Given the description of an element on the screen output the (x, y) to click on. 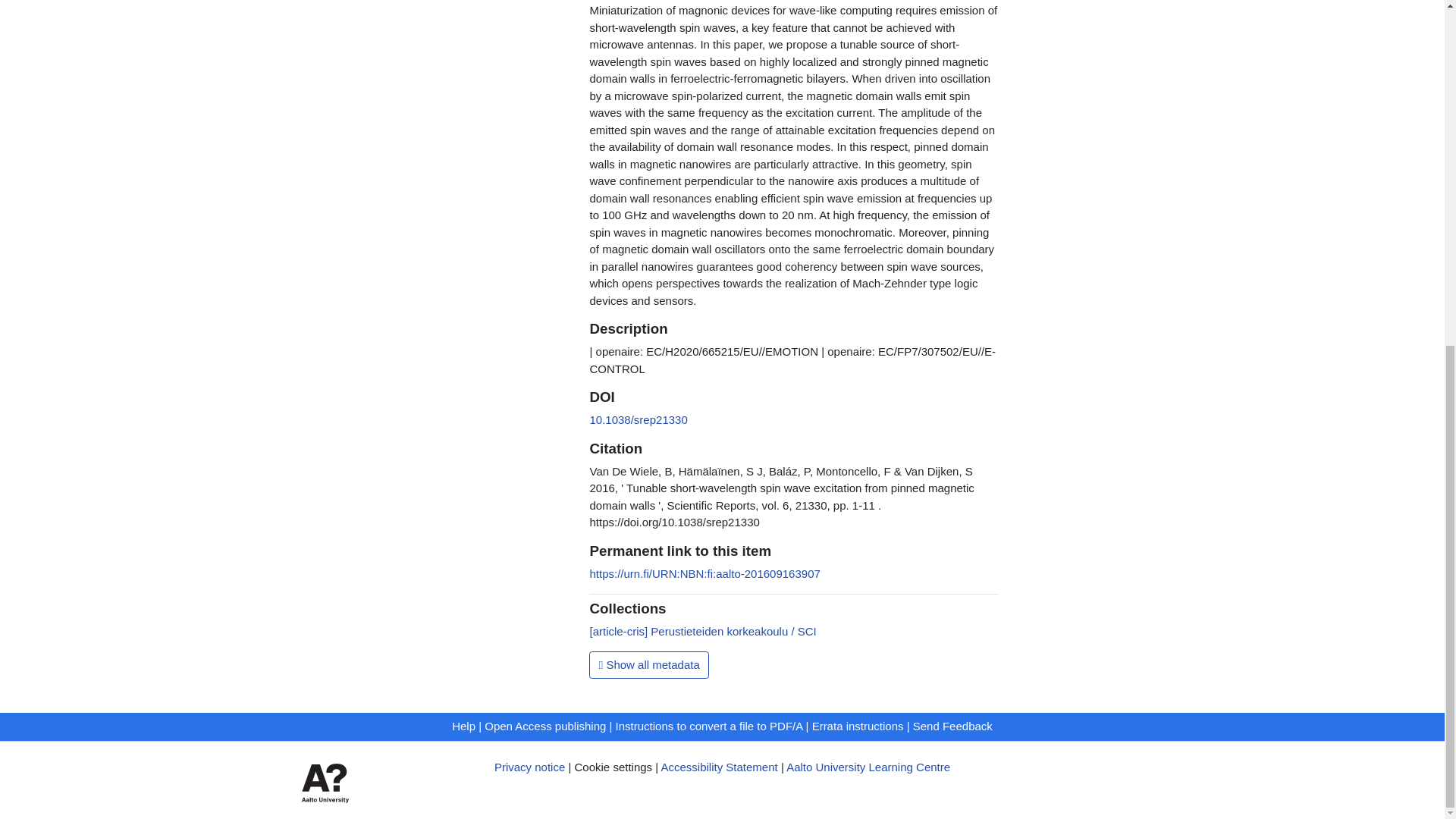
Aalto University Learning Centre (868, 766)
Show all metadata (649, 664)
Help (463, 725)
Errata instructions (858, 725)
Privacy notice (529, 766)
Send Feedback (952, 725)
Accessibility Statement (719, 766)
Open Access publishing (544, 725)
Cookie settings (613, 766)
